Given the description of an element on the screen output the (x, y) to click on. 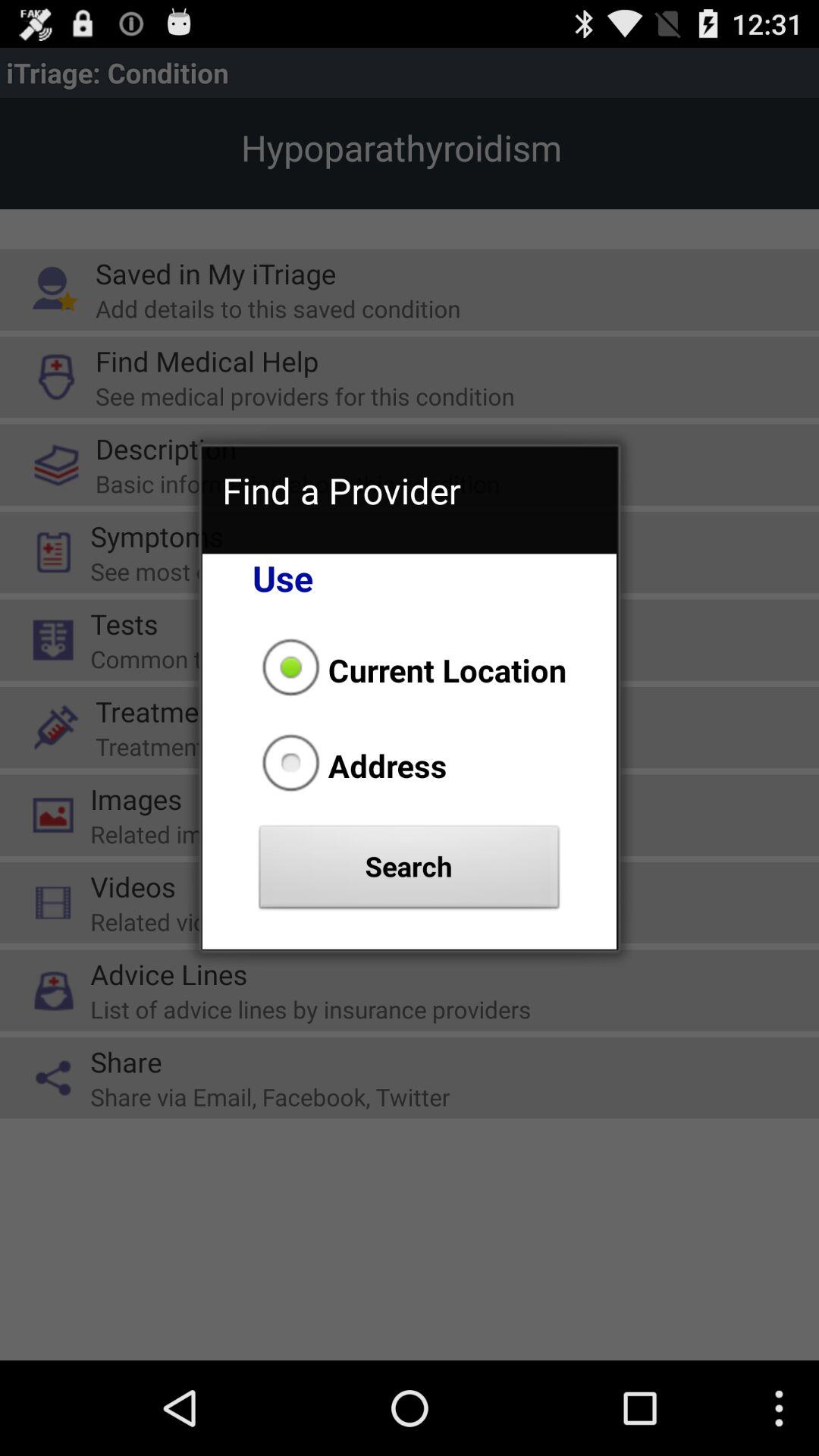
launch the item below current location item (349, 765)
